Given the description of an element on the screen output the (x, y) to click on. 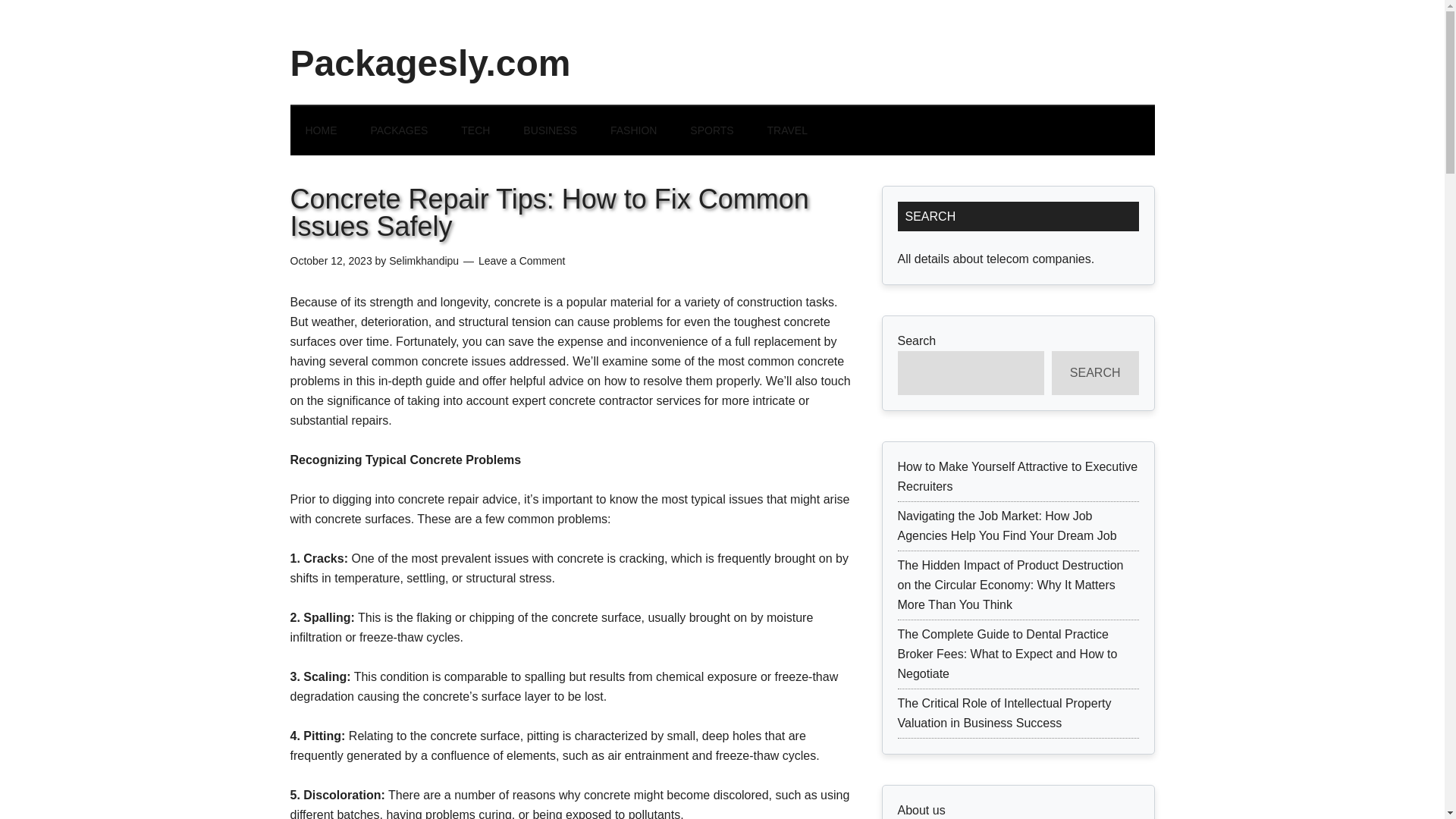
Selimkhandipu (423, 260)
TECH (475, 130)
Leave a Comment (521, 260)
About us (921, 809)
How to Make Yourself Attractive to Executive Recruiters (1018, 476)
FASHION (633, 130)
HOME (320, 130)
SEARCH (1094, 372)
BUSINESS (550, 130)
SPORTS (711, 130)
TRAVEL (787, 130)
